Given the description of an element on the screen output the (x, y) to click on. 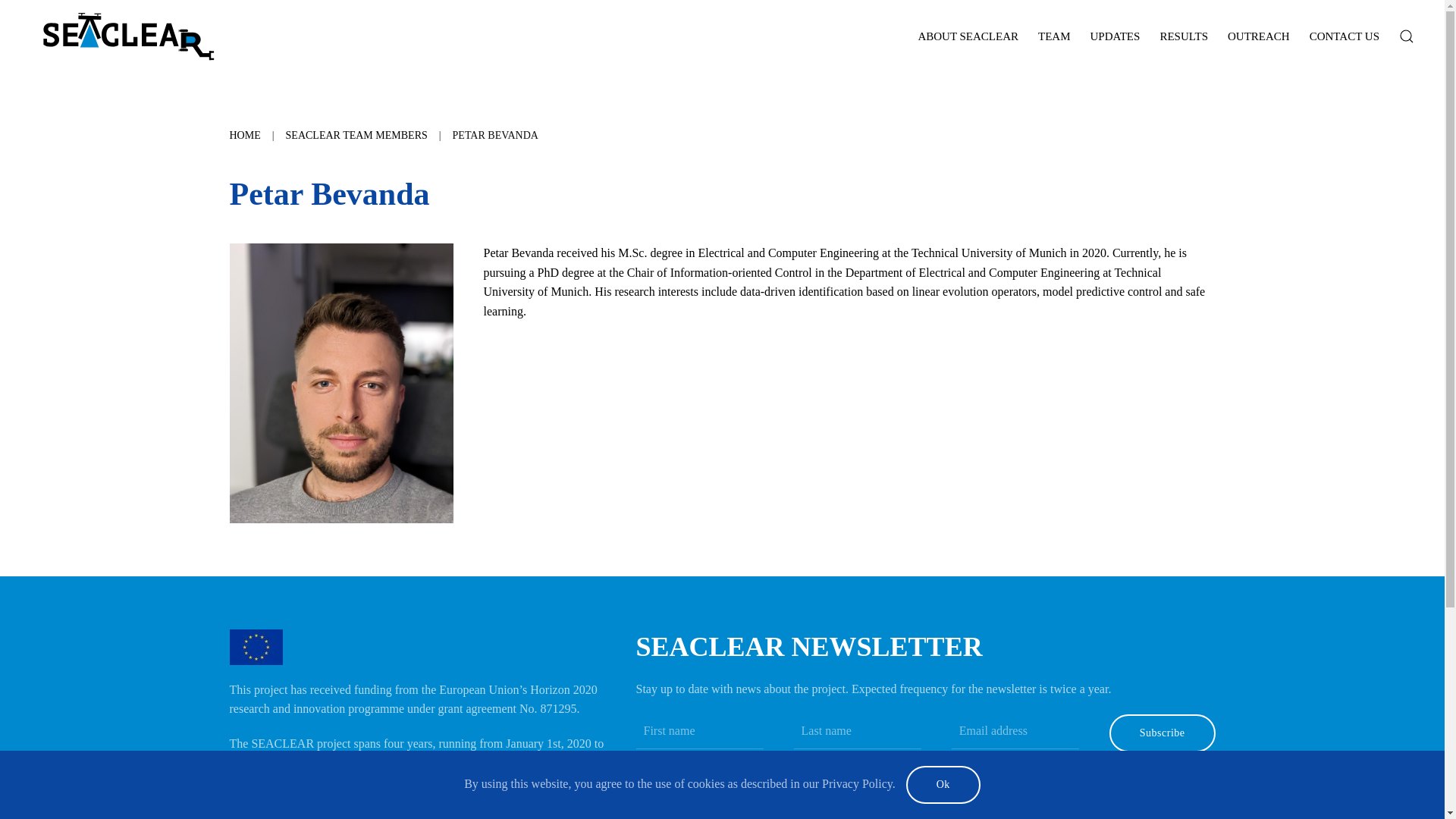
ABOUT SEACLEAR (967, 36)
SEACLEAR TEAM MEMBERS (356, 134)
OUTREACH (1258, 36)
RESULTS (1183, 36)
HOME (244, 134)
CONTACT US (1344, 36)
Subscribe (1162, 733)
UPDATES (1115, 36)
